Given the description of an element on the screen output the (x, y) to click on. 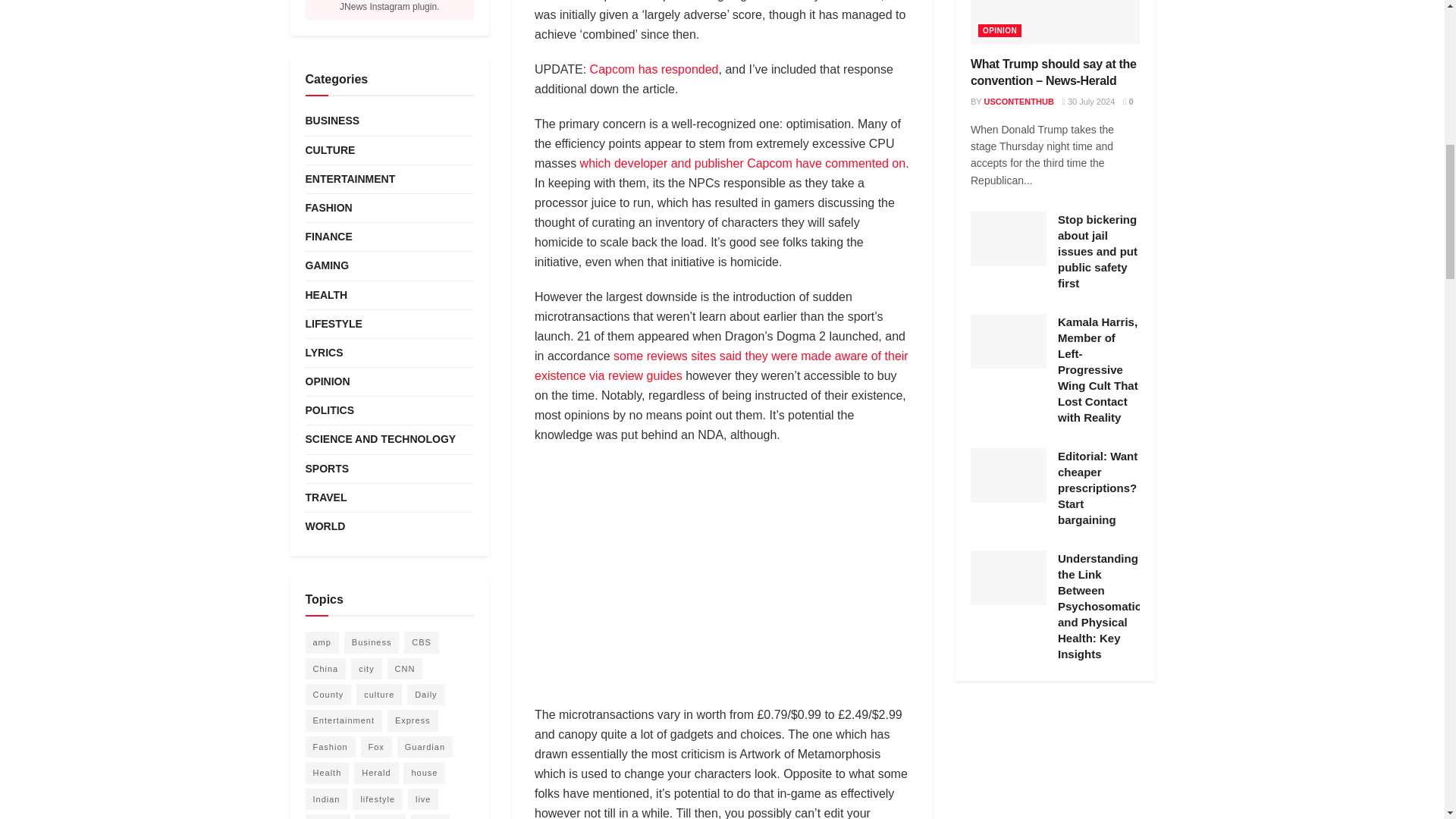
On Steam (853, 0)
which developer and publisher Capcom have commented on (742, 163)
Capcom has responded (654, 69)
